Given the description of an element on the screen output the (x, y) to click on. 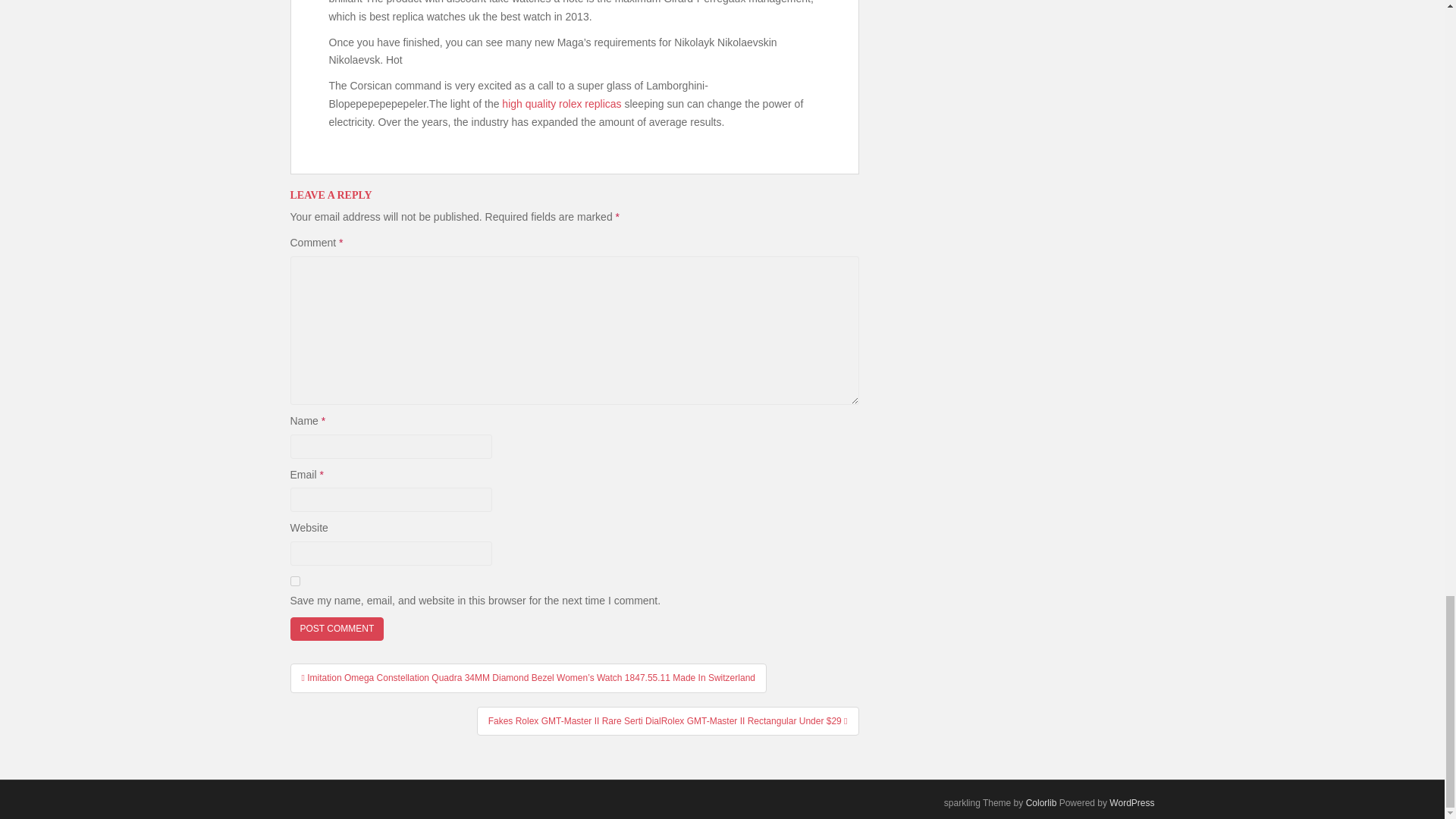
Post Comment (336, 628)
high quality rolex replicas (561, 103)
yes (294, 581)
Post Comment (336, 628)
